Given the description of an element on the screen output the (x, y) to click on. 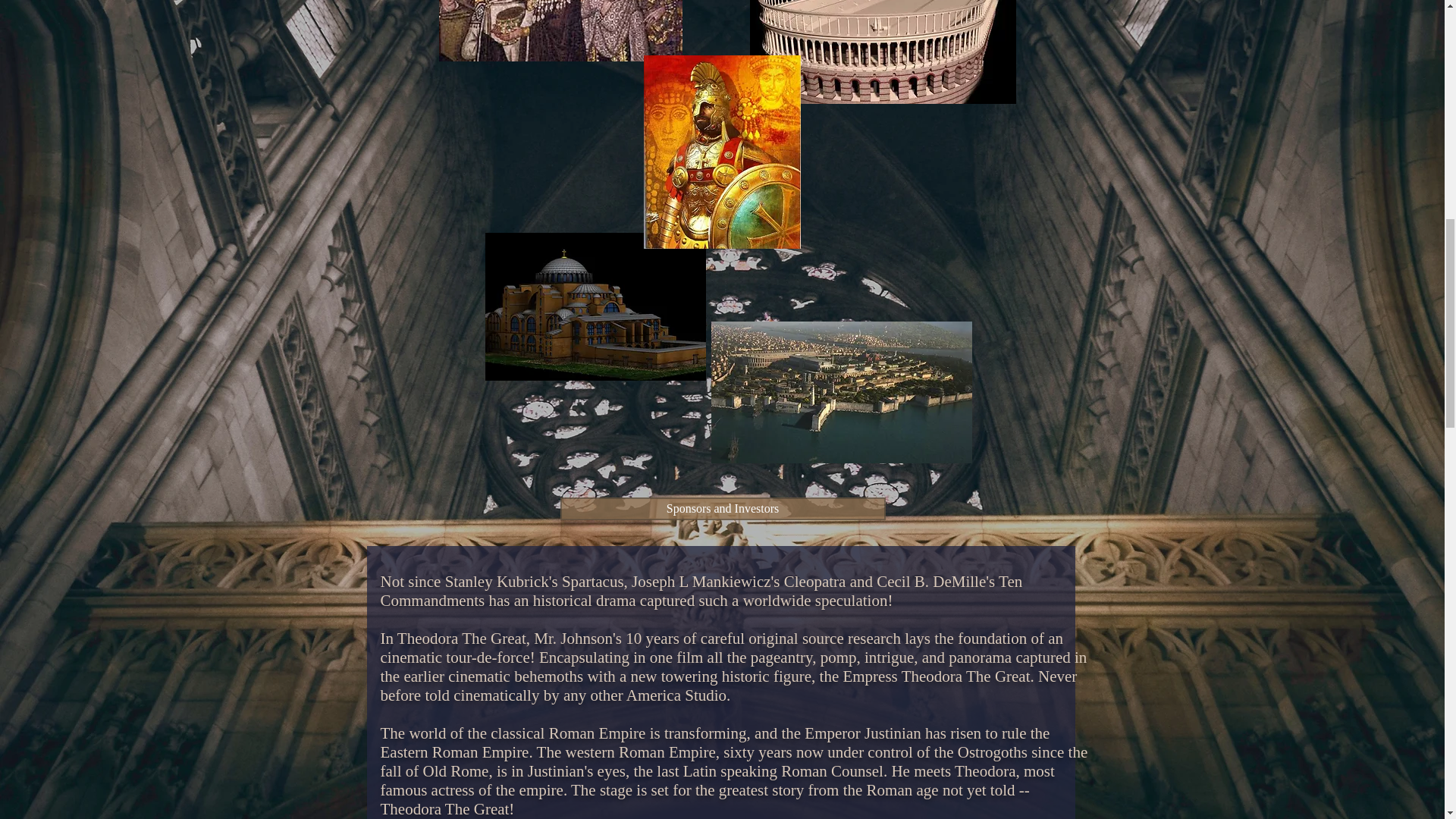
Sponsors and Investors (722, 508)
